Given the description of an element on the screen output the (x, y) to click on. 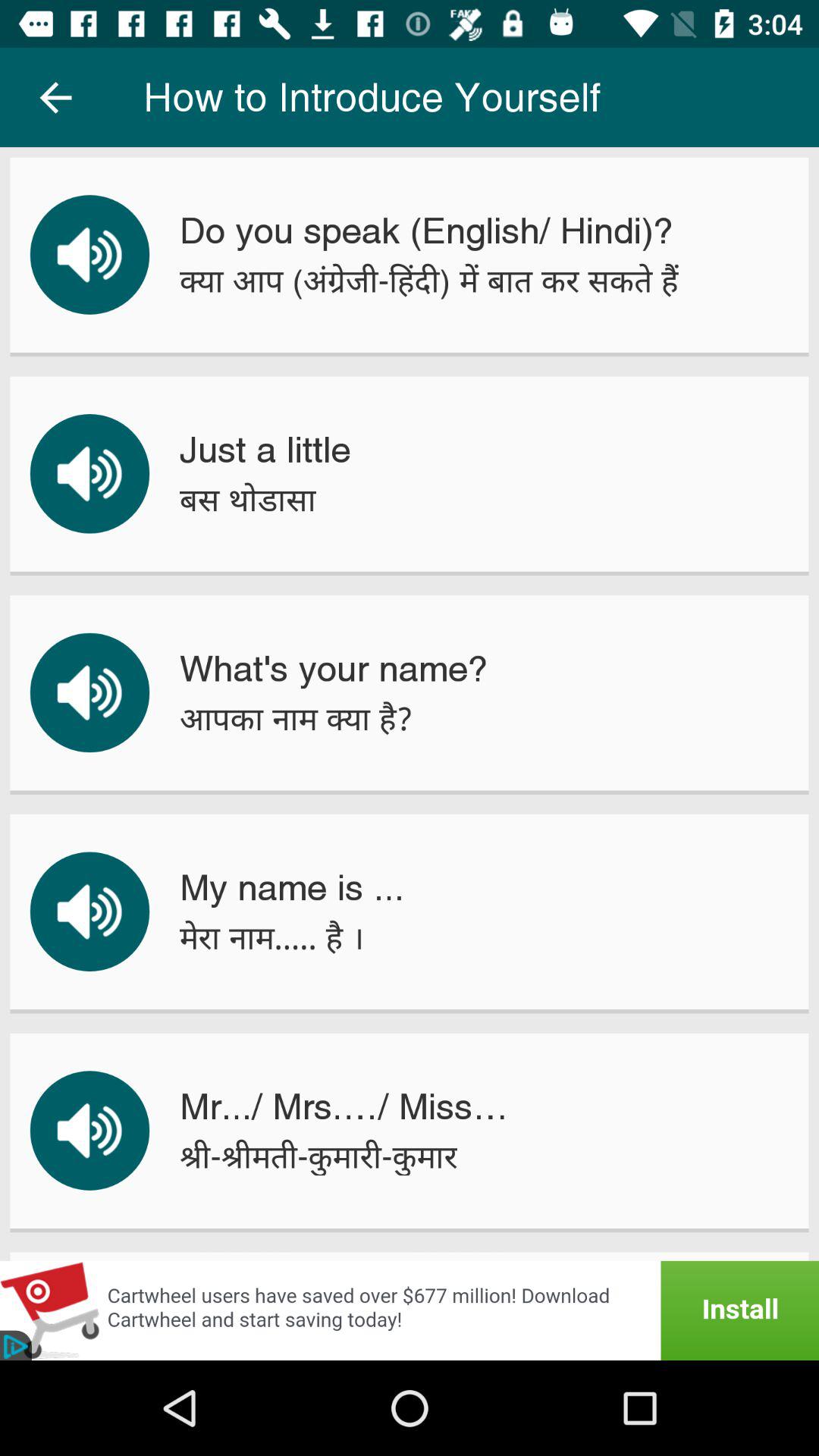
turn on my name is ... item (291, 887)
